Given the description of an element on the screen output the (x, y) to click on. 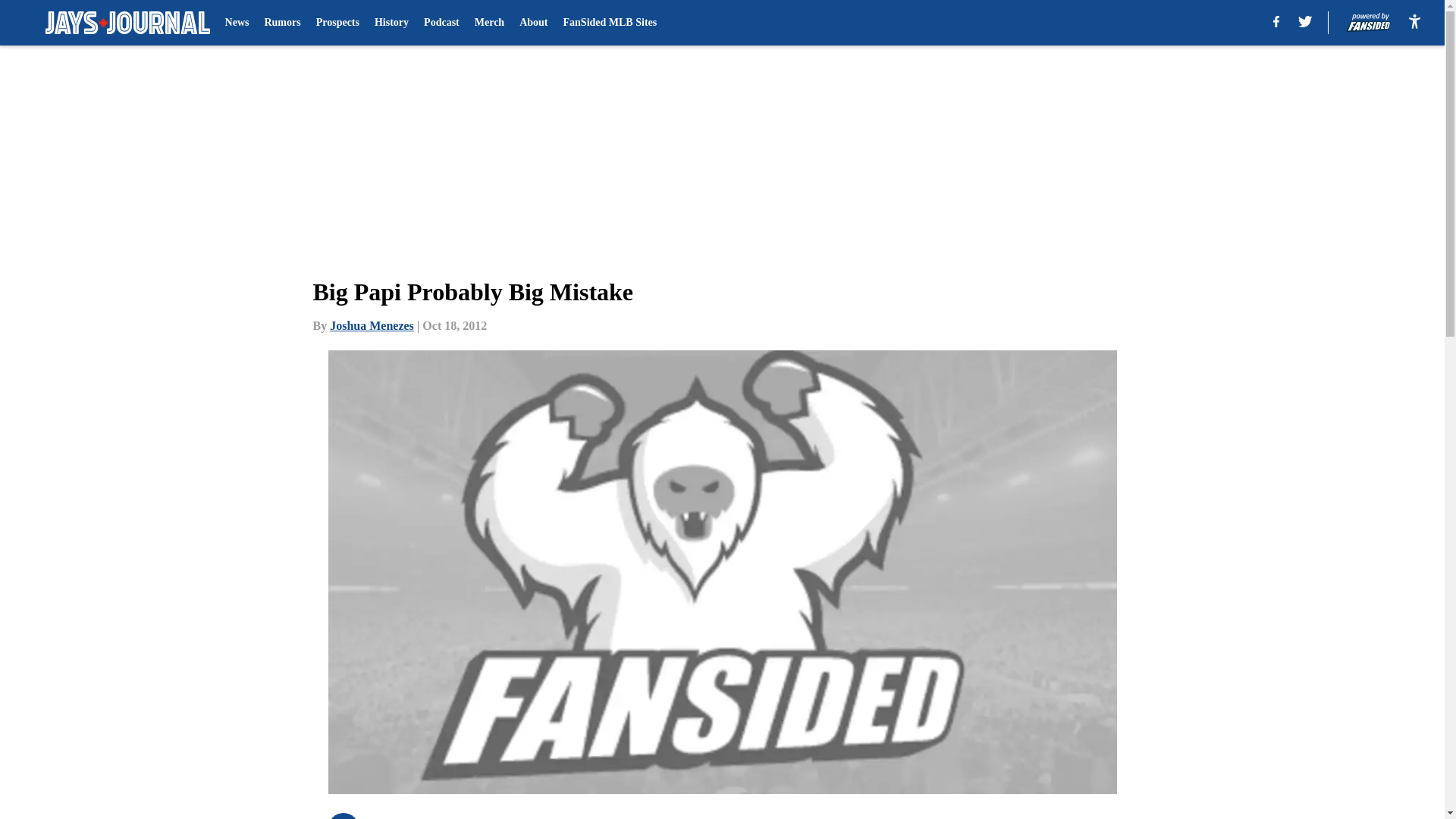
Rumors (281, 22)
History (391, 22)
News (236, 22)
About (533, 22)
Merch (488, 22)
Joshua Menezes (371, 325)
Prospects (337, 22)
Podcast (441, 22)
FanSided MLB Sites (610, 22)
